Given the description of an element on the screen output the (x, y) to click on. 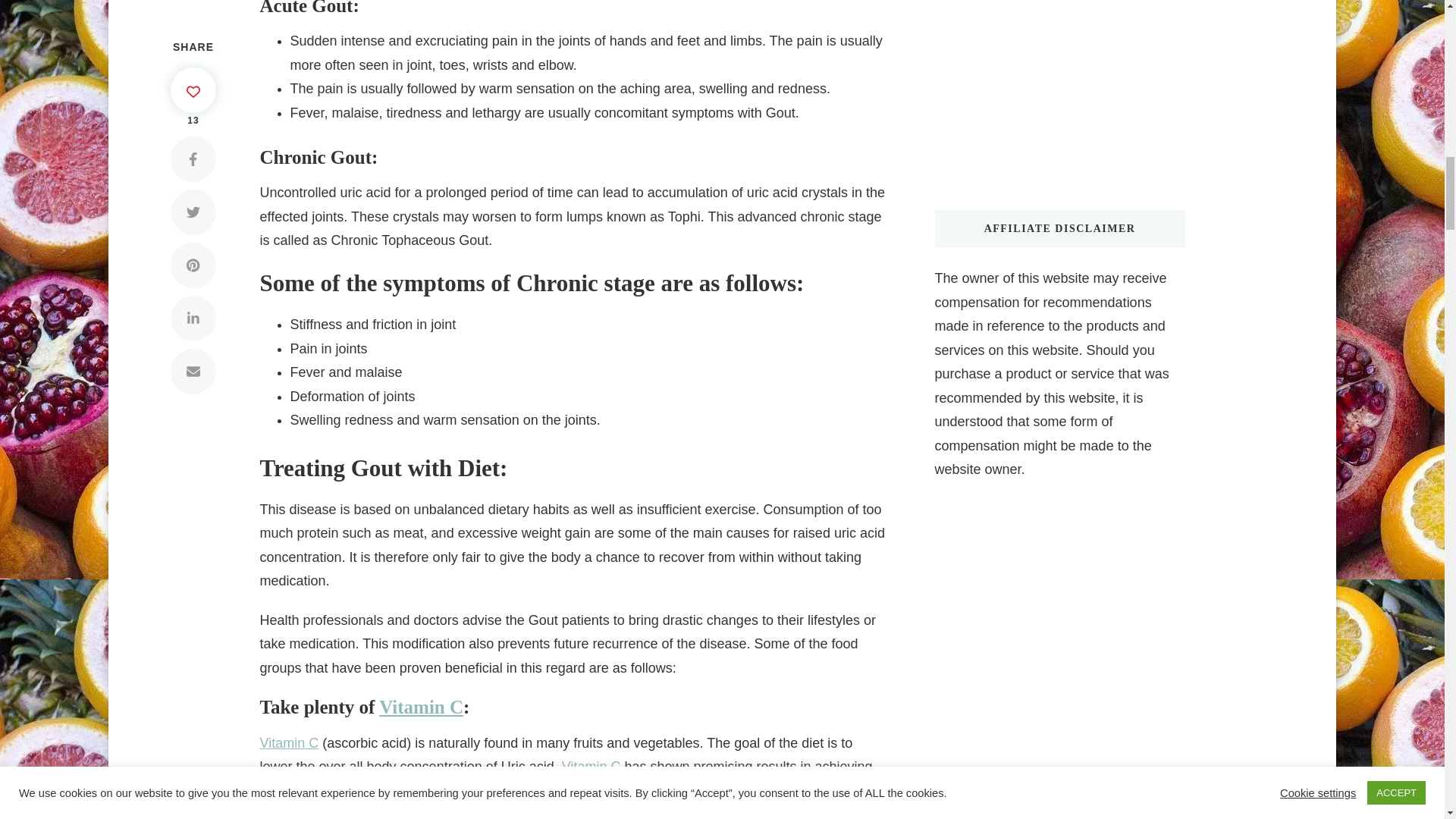
Vitamin C (288, 743)
Vitamin C (420, 706)
Vitamin C (591, 766)
